Given the description of an element on the screen output the (x, y) to click on. 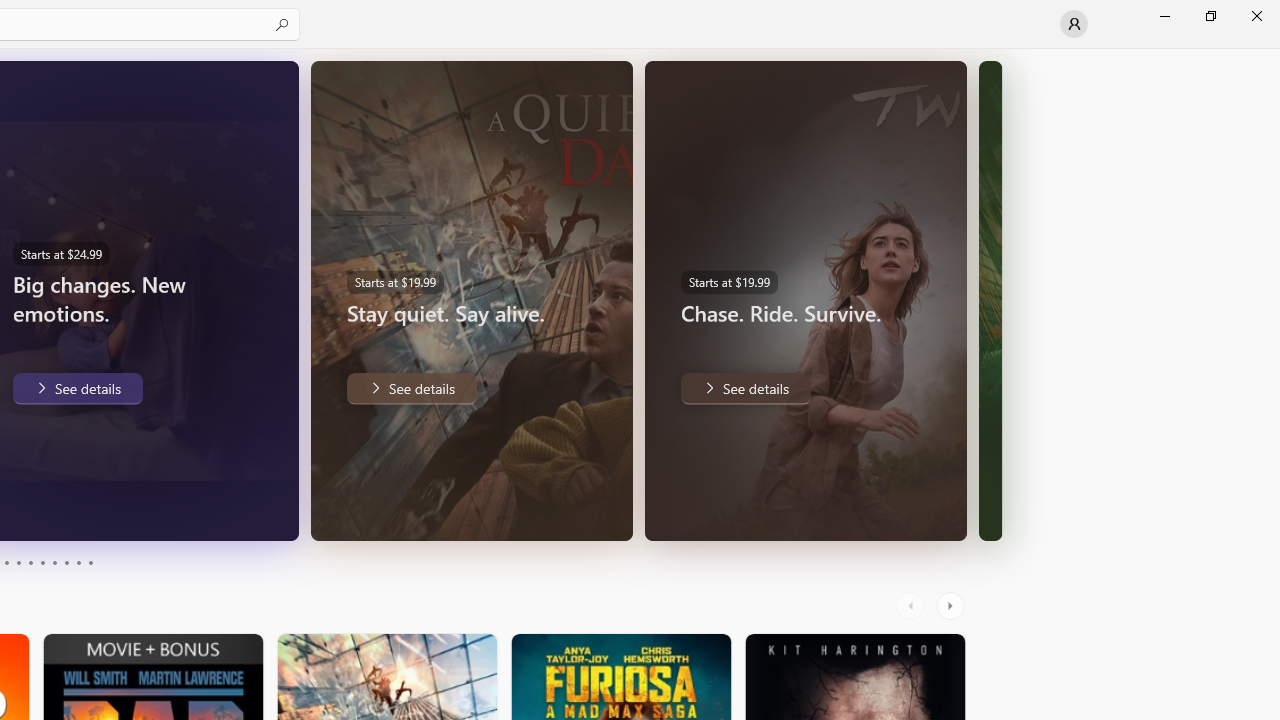
Page 3 (5, 562)
User profile (1073, 24)
Close Microsoft Store (1256, 15)
Unmute (269, 512)
Page 8 (65, 562)
Page 7 (54, 562)
AutomationID: Image (989, 300)
Page 10 (90, 562)
Restore Microsoft Store (1210, 15)
AutomationID: RightScrollButton (952, 606)
Page 6 (41, 562)
Page 9 (77, 562)
Page 4 (17, 562)
